Given the description of an element on the screen output the (x, y) to click on. 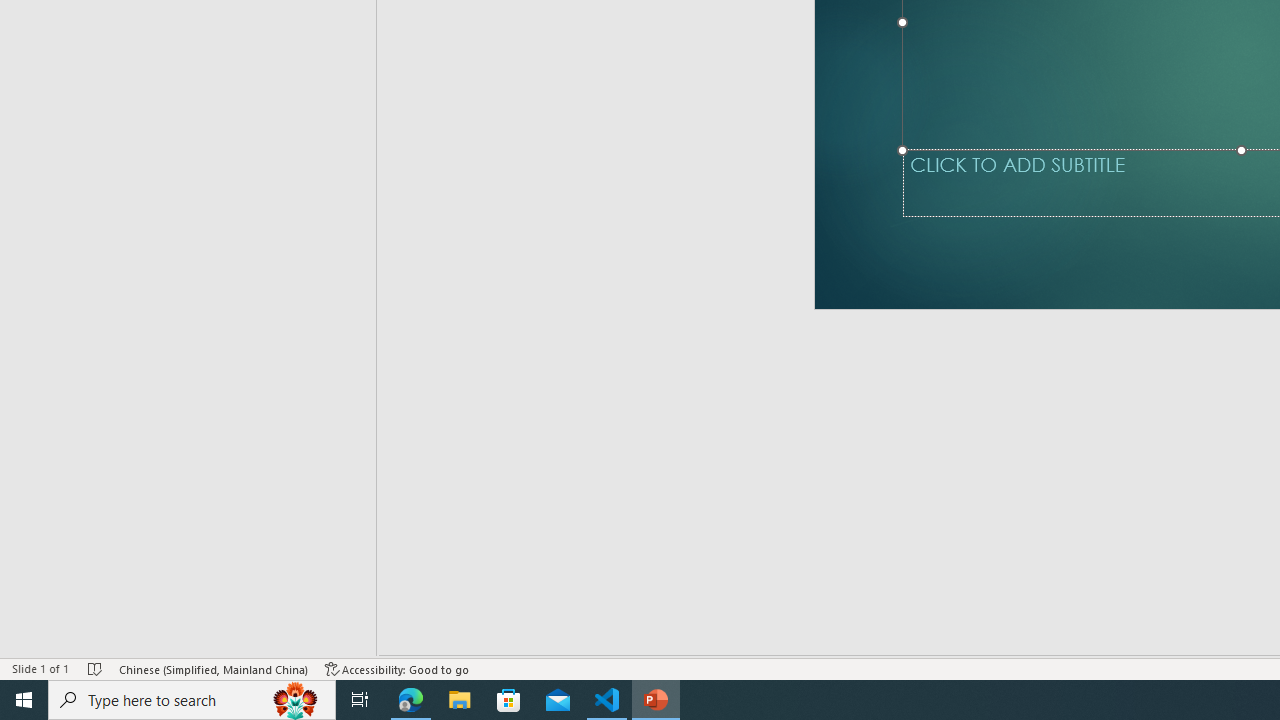
Spell Check No Errors (95, 668)
File Explorer (460, 699)
Visual Studio Code - 1 running window (607, 699)
Search highlights icon opens search home window (295, 699)
PowerPoint - 1 running window (656, 699)
Microsoft Store (509, 699)
Microsoft Edge - 1 running window (411, 699)
Accessibility Checker Accessibility: Good to go (397, 668)
Start (24, 699)
Task View (359, 699)
Type here to search (191, 699)
